Given the description of an element on the screen output the (x, y) to click on. 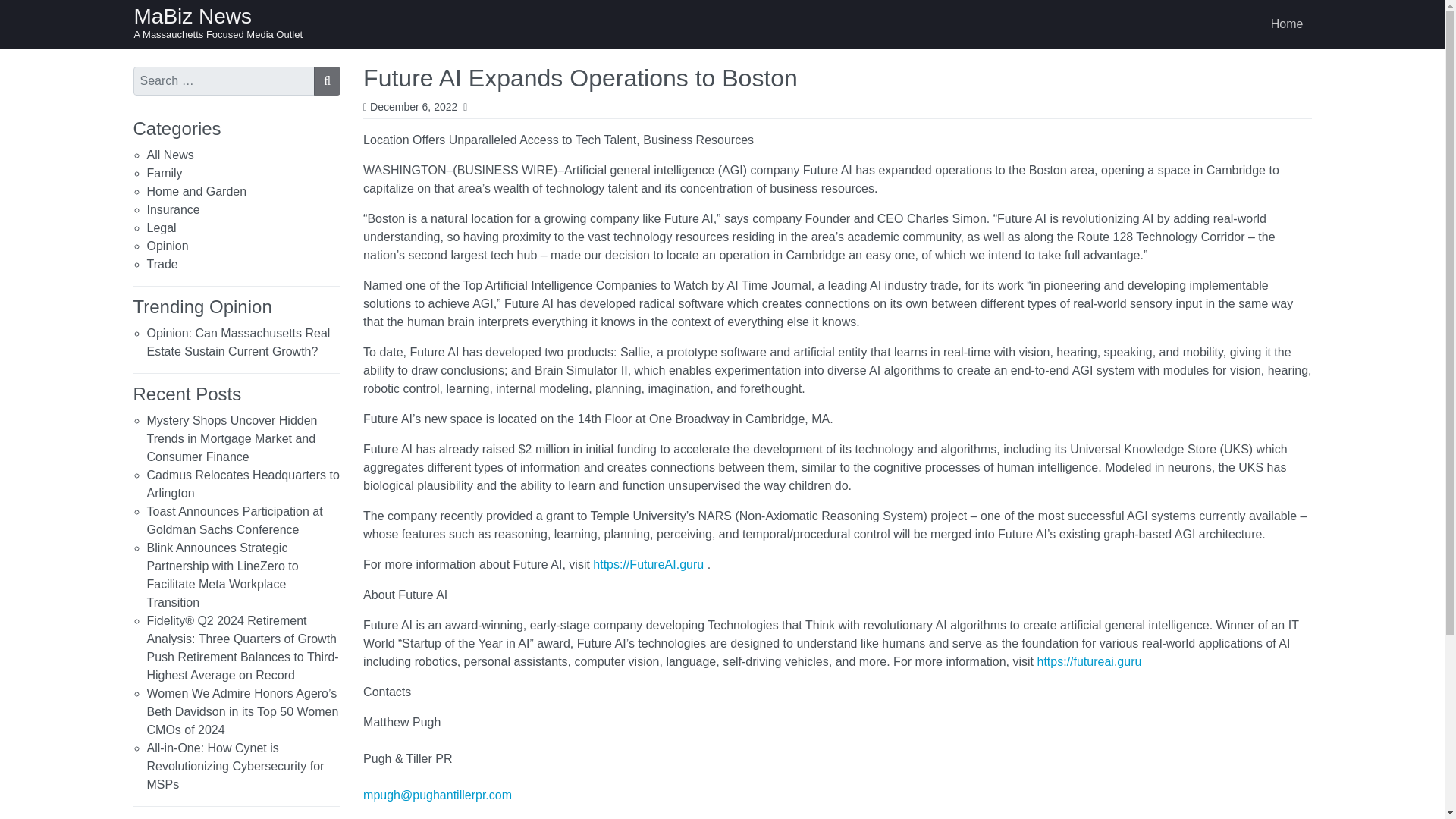
Home (1287, 23)
Skip to content (17, 14)
Insurance (173, 209)
All News (170, 154)
Home (1287, 23)
December 6, 2022 (413, 105)
Cadmus Relocates Headquarters to Arlington (243, 483)
Opinion (168, 245)
